Given the description of an element on the screen output the (x, y) to click on. 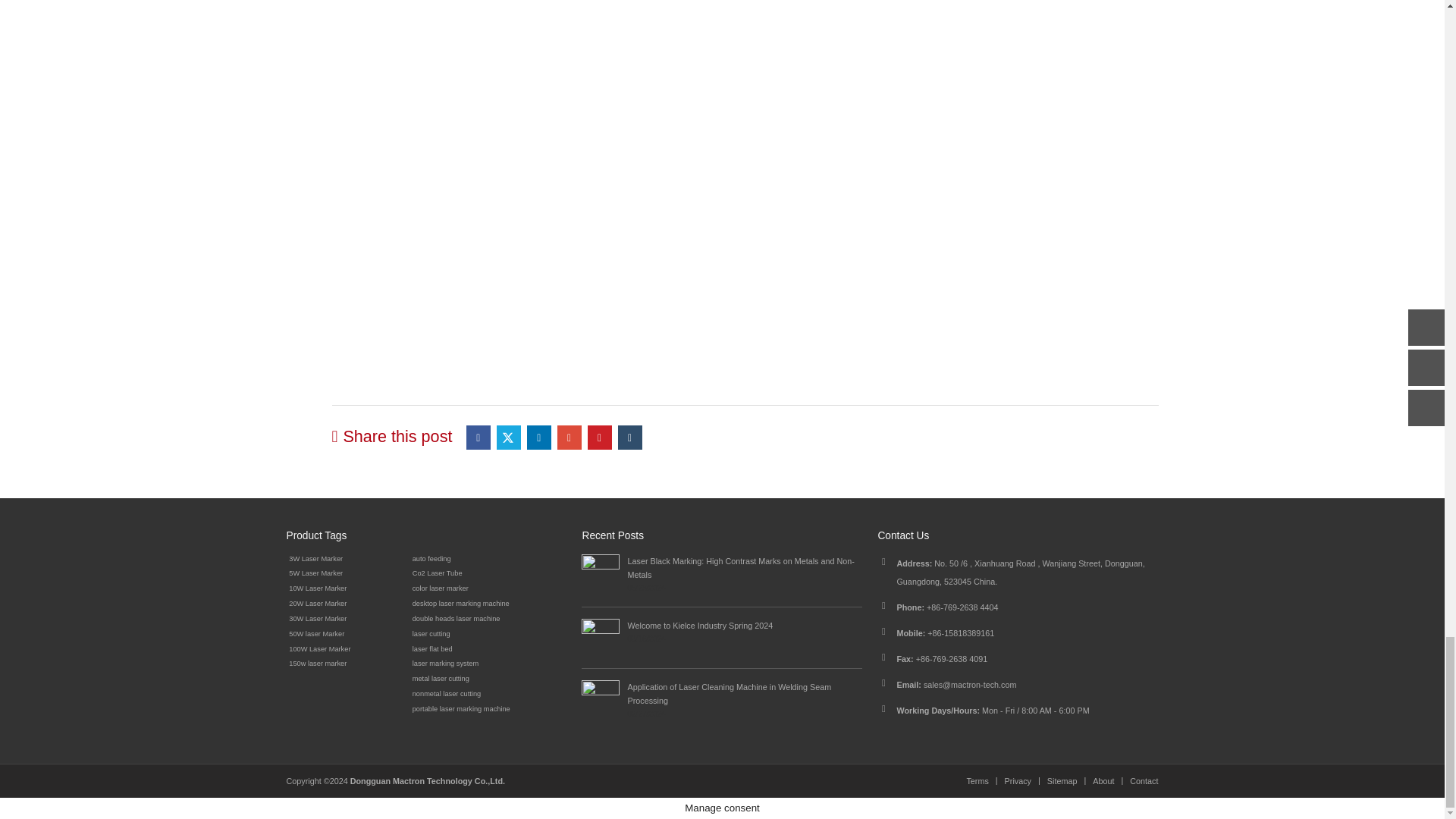
Facebook (477, 437)
LinkedIn (539, 437)
Twitter (508, 437)
